Given the description of an element on the screen output the (x, y) to click on. 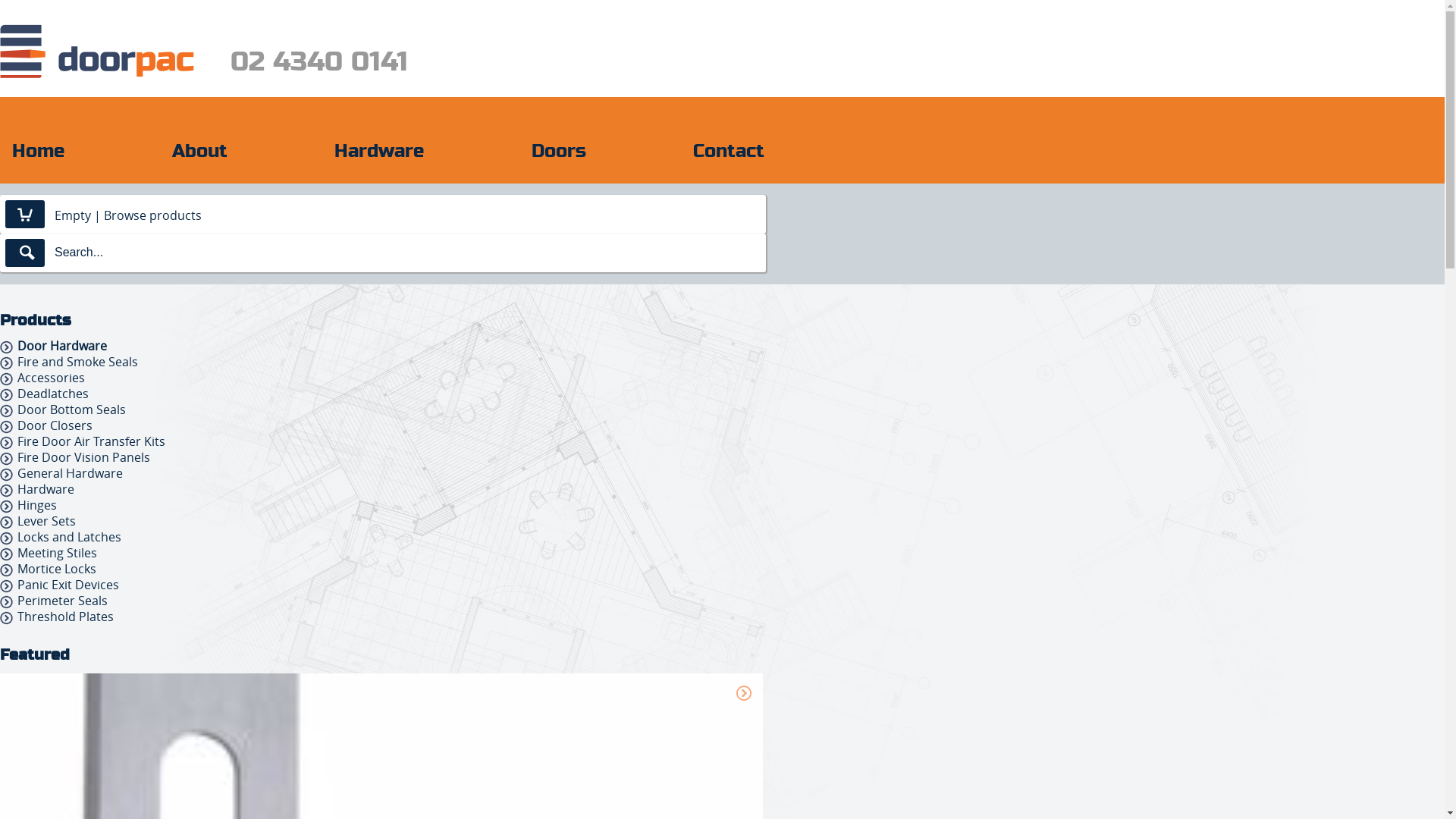
Door Hardware Element type: text (61, 345)
Deadlatches Element type: text (52, 393)
Home Element type: text (38, 147)
Threshold Plates Element type: text (65, 616)
Meeting Stiles Element type: text (57, 552)
Perimeter Seals Element type: text (62, 600)
Contact Element type: text (728, 147)
Fire Door Air Transfer Kits Element type: text (91, 441)
General Hardware Element type: text (69, 472)
Hinges Element type: text (36, 504)
Hardware Element type: text (45, 488)
Panic Exit Devices Element type: text (68, 584)
Locks and Latches Element type: text (69, 536)
Door Bottom Seals Element type: text (71, 409)
Lever Sets Element type: text (46, 520)
About Element type: text (198, 147)
Fire and Smoke Seals Element type: text (77, 361)
Mortice Locks Element type: text (56, 568)
Doors Element type: text (557, 147)
Doorpac Element type: text (97, 51)
Accessories Element type: text (50, 377)
Fire Door Vision Panels Element type: text (83, 456)
Door Closers Element type: text (54, 425)
Empty | Browse products Element type: text (127, 214)
Hardware Element type: text (378, 147)
